Given the description of an element on the screen output the (x, y) to click on. 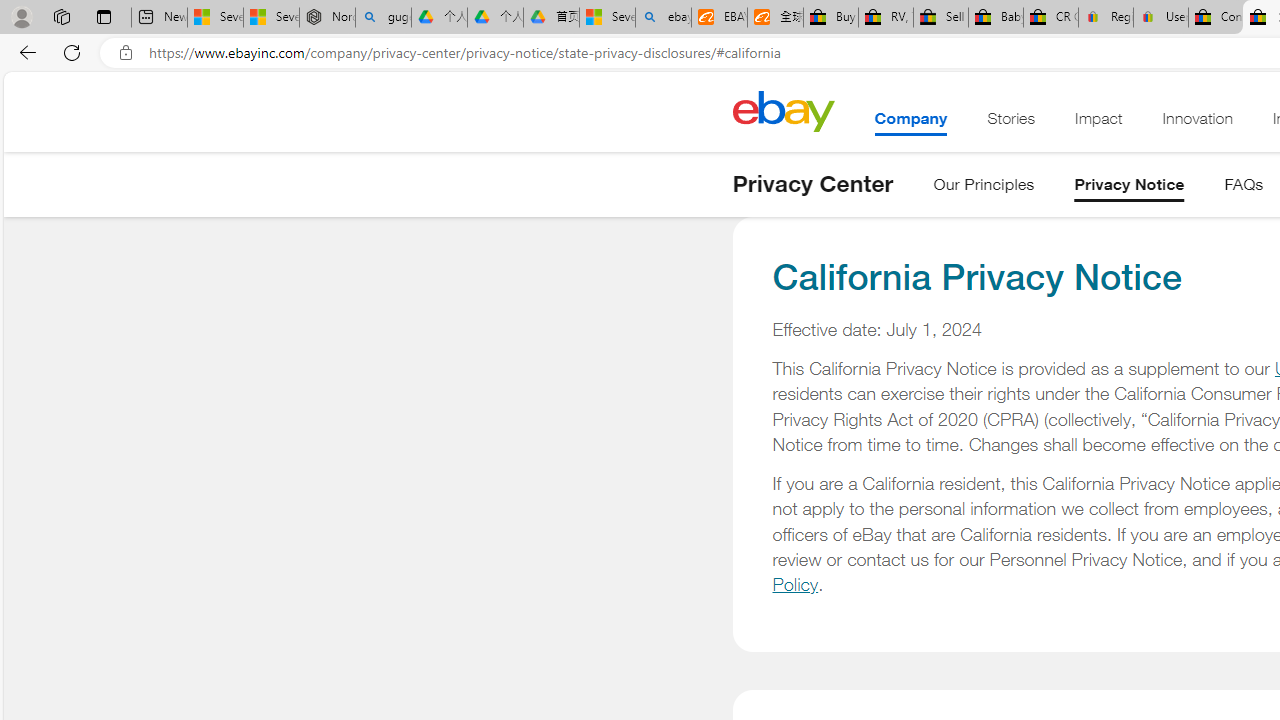
User Privacy Notice | eBay (1160, 17)
Our Principles (984, 188)
RV, Trailer & Camper Steps & Ladders for sale | eBay (885, 17)
Buy Auto Parts & Accessories | eBay (830, 17)
guge yunpan - Search (382, 17)
Sell worldwide with eBay (940, 17)
